Given the description of an element on the screen output the (x, y) to click on. 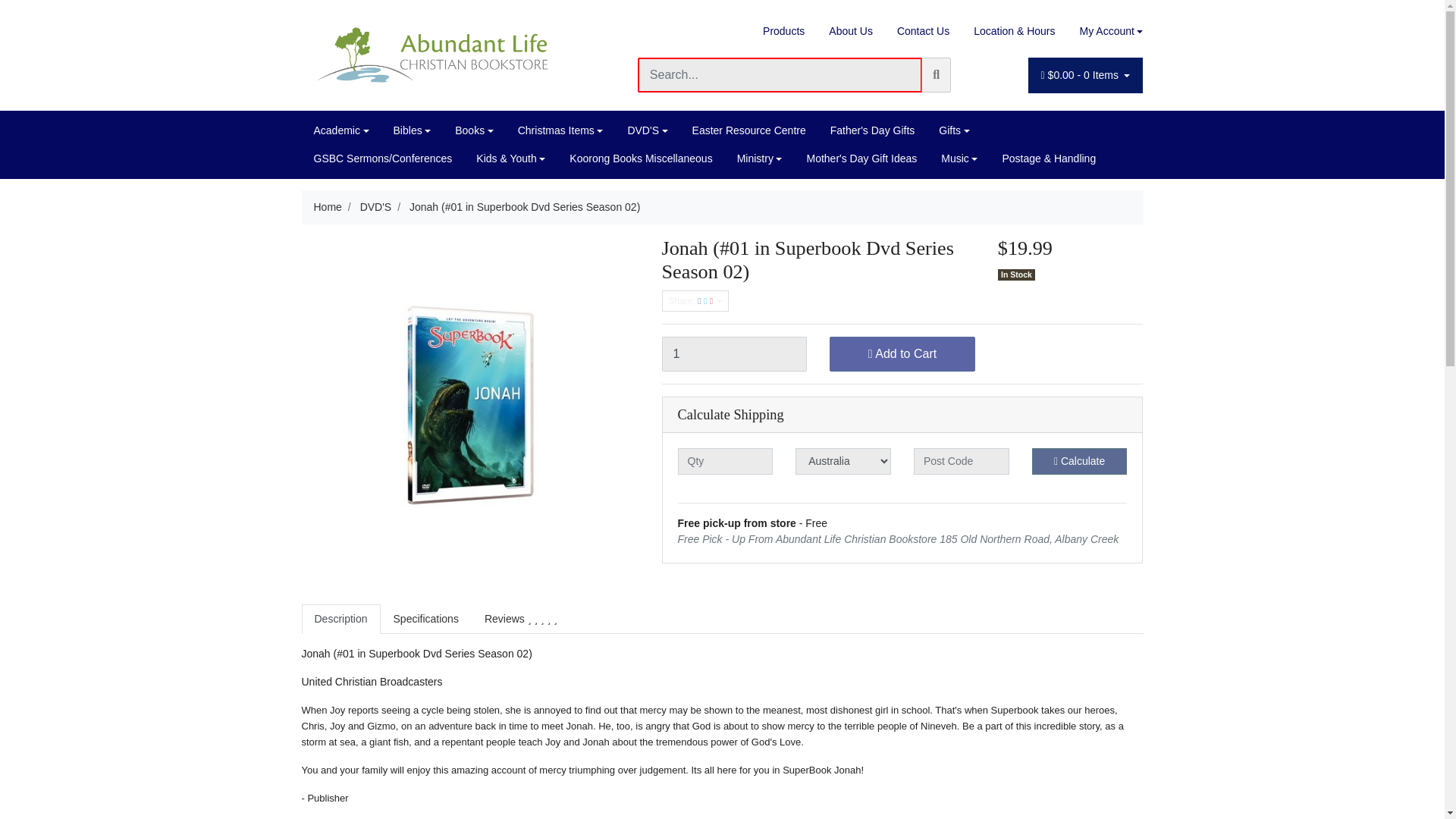
Calculate (1079, 461)
1 (733, 353)
My Account (1104, 31)
Contact Us (922, 31)
Academic (341, 130)
Bibles (412, 130)
Products (783, 31)
About Us (850, 31)
